Given the description of an element on the screen output the (x, y) to click on. 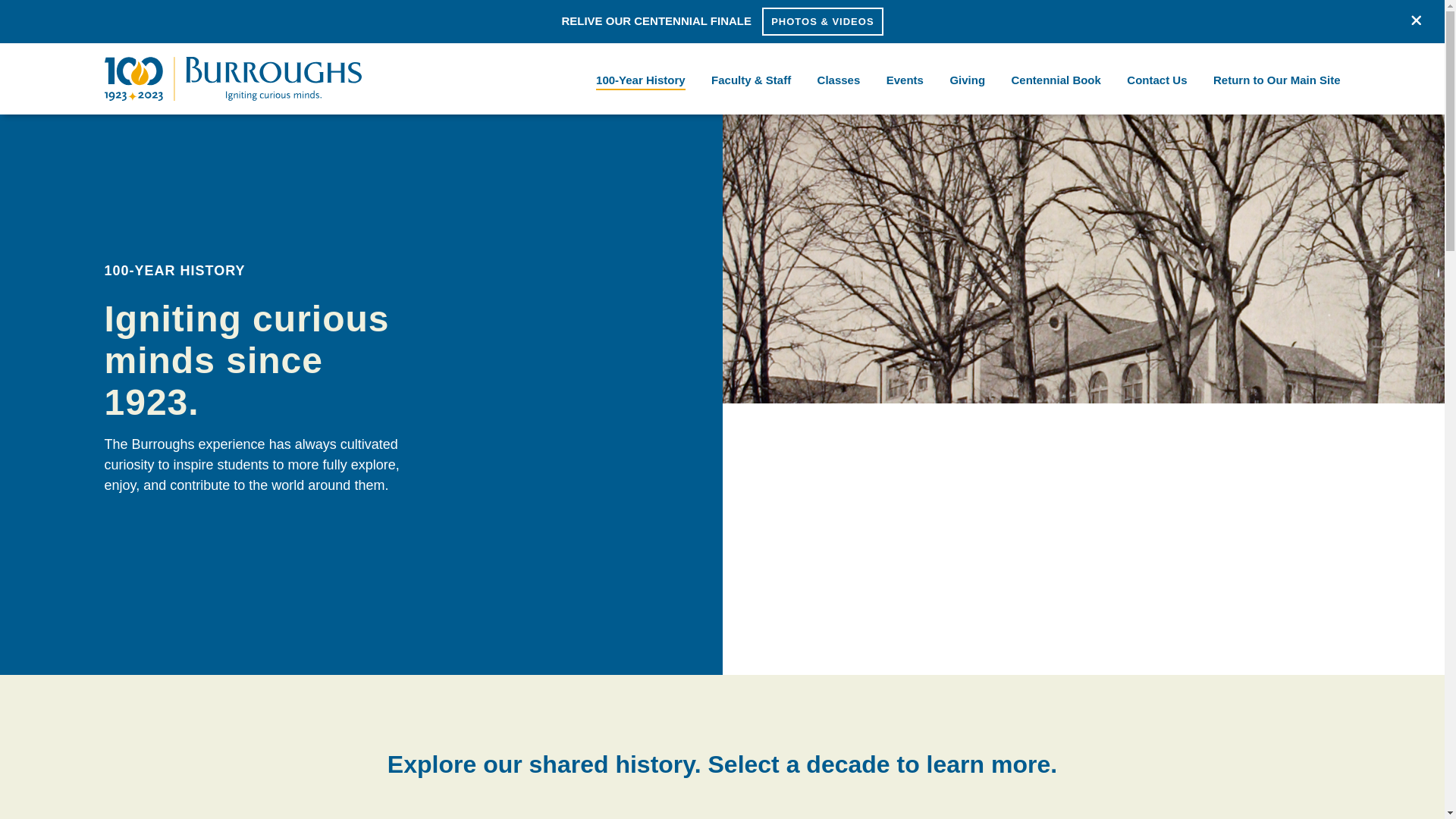
Return to Our Main Site (839, 78)
Centennial Book (641, 78)
Contact Us (1271, 78)
